Given the description of an element on the screen output the (x, y) to click on. 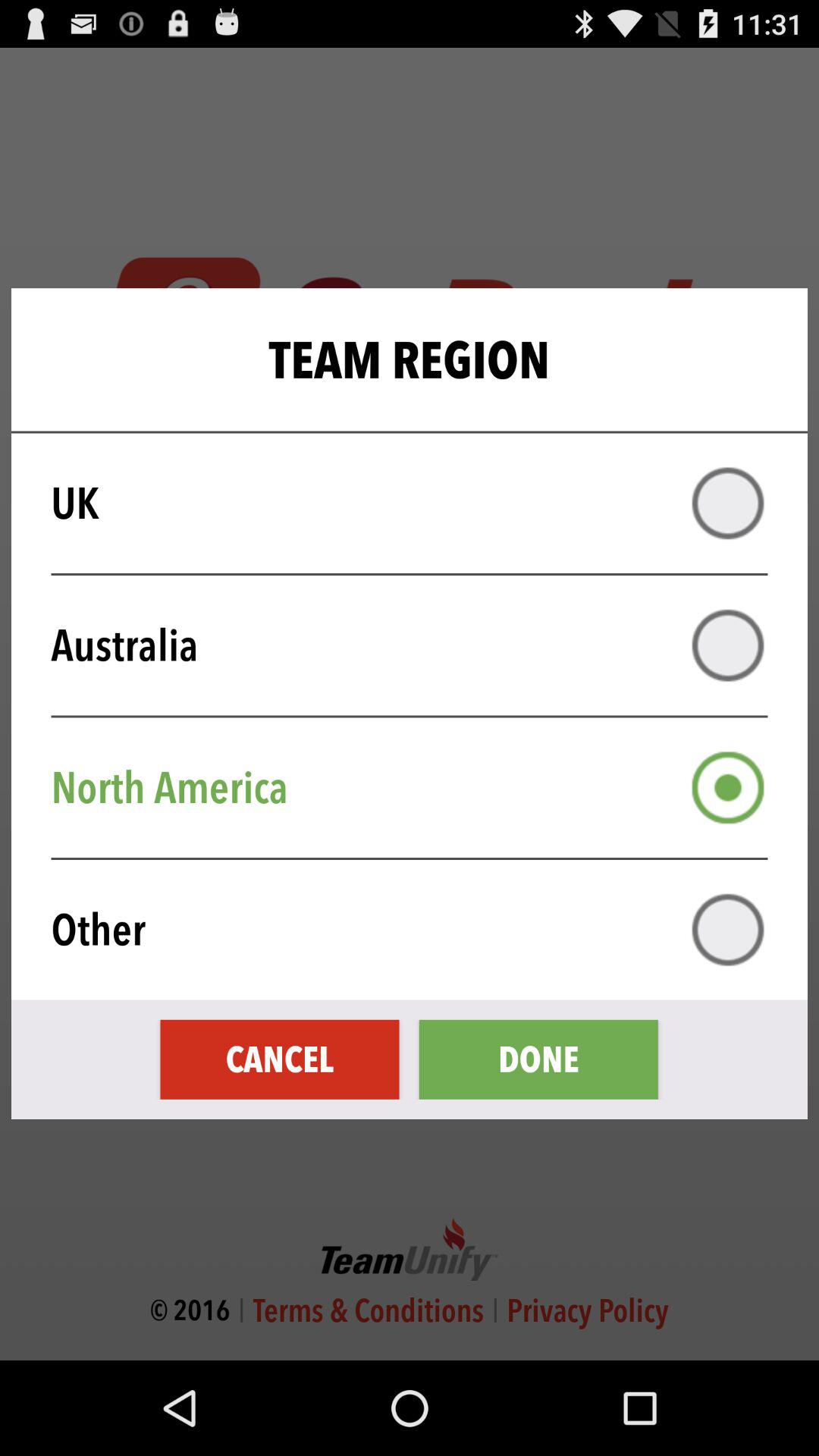
the radio button would allow you to select north america as your team region (727, 787)
